Given the description of an element on the screen output the (x, y) to click on. 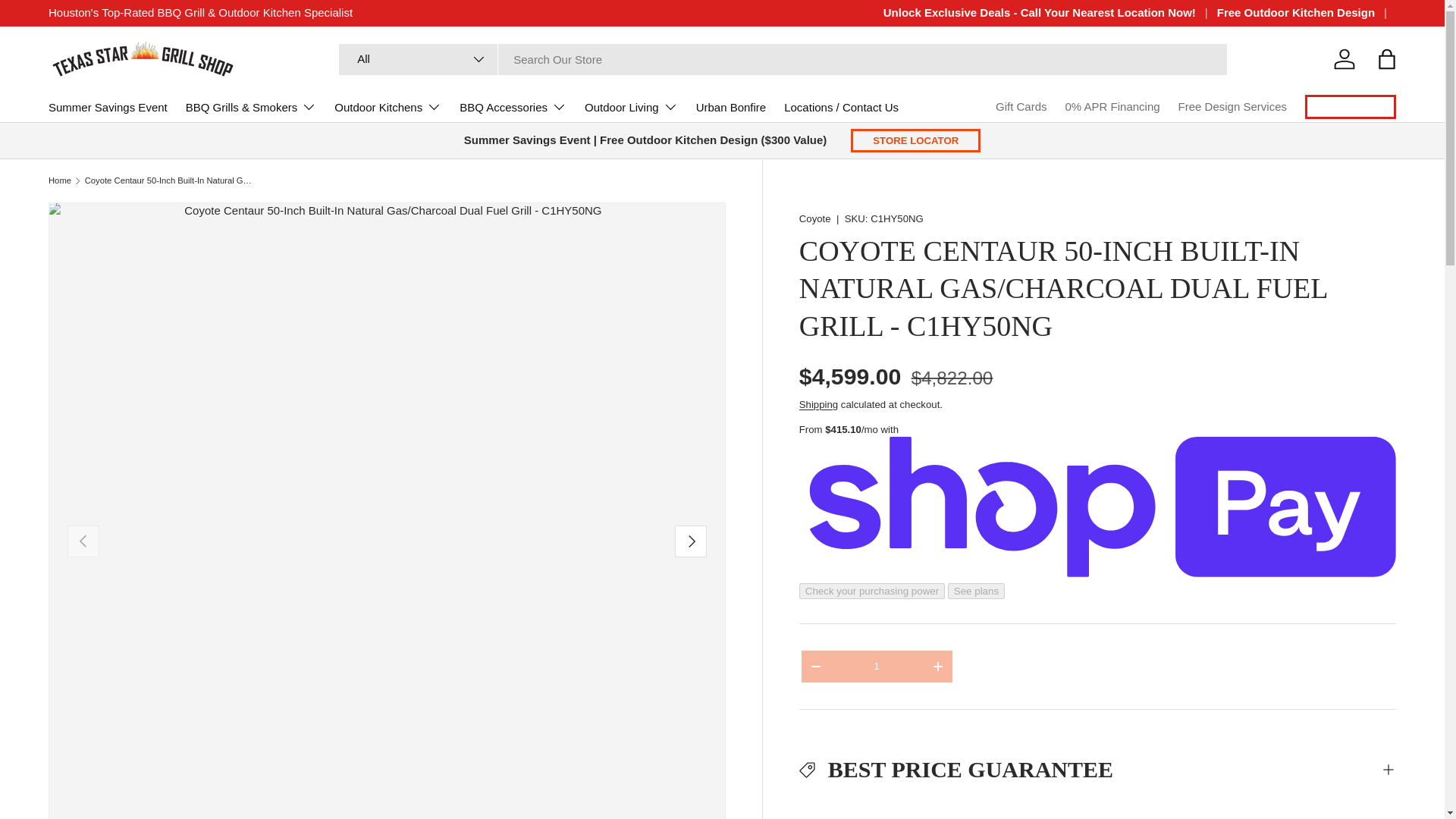
All (418, 59)
Log in (1344, 59)
Free Outdoor Kitchen Design (1306, 13)
Bag (1386, 59)
1 (876, 666)
Summer Savings Event (107, 106)
Unlock Exclusive Deals - Call Your Nearest Location Now! (1050, 13)
SKIP TO CONTENT (69, 22)
